Given the description of an element on the screen output the (x, y) to click on. 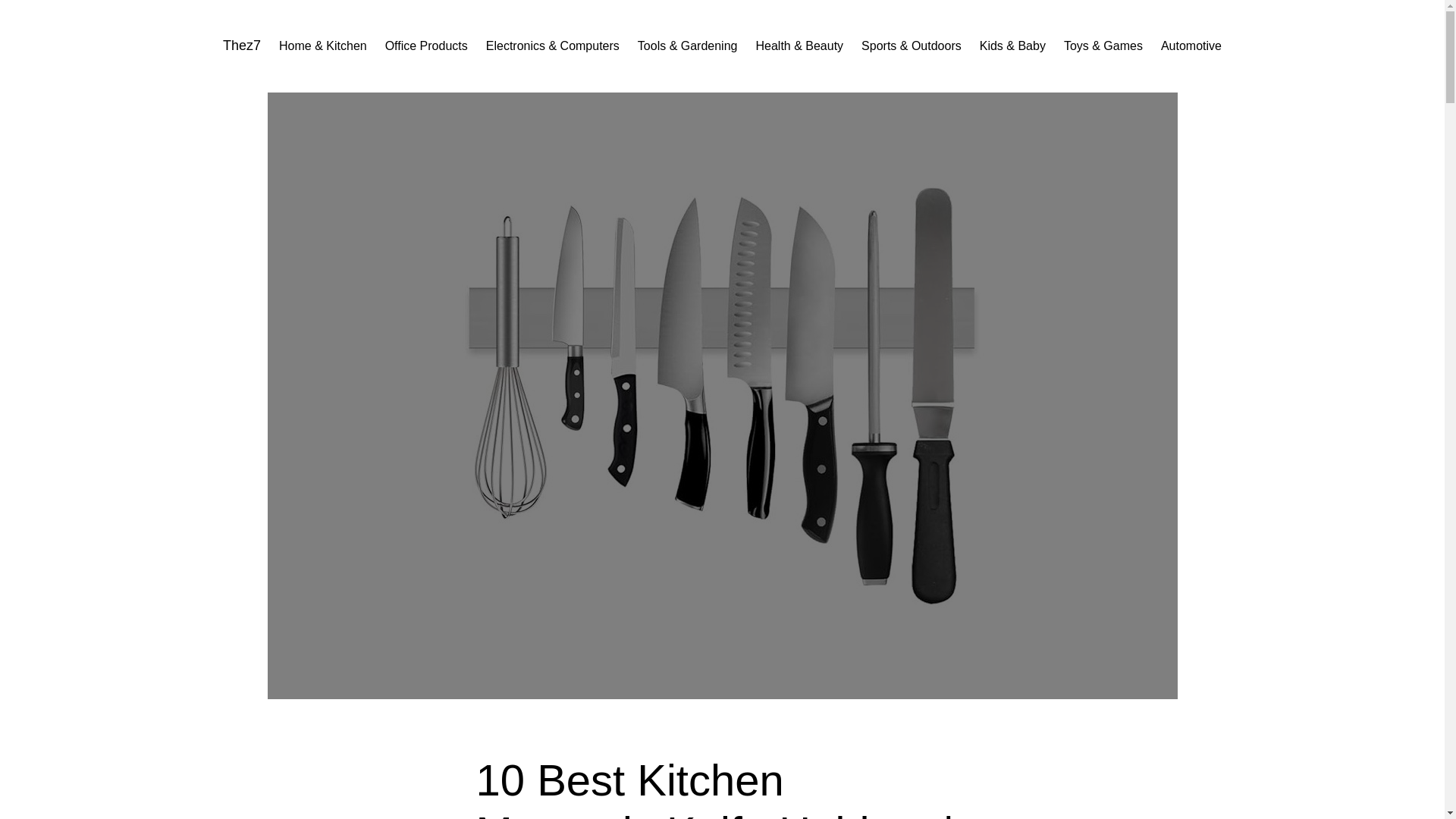
Thez7 (241, 45)
Office Products (426, 46)
Automotive (1190, 46)
